Given the description of an element on the screen output the (x, y) to click on. 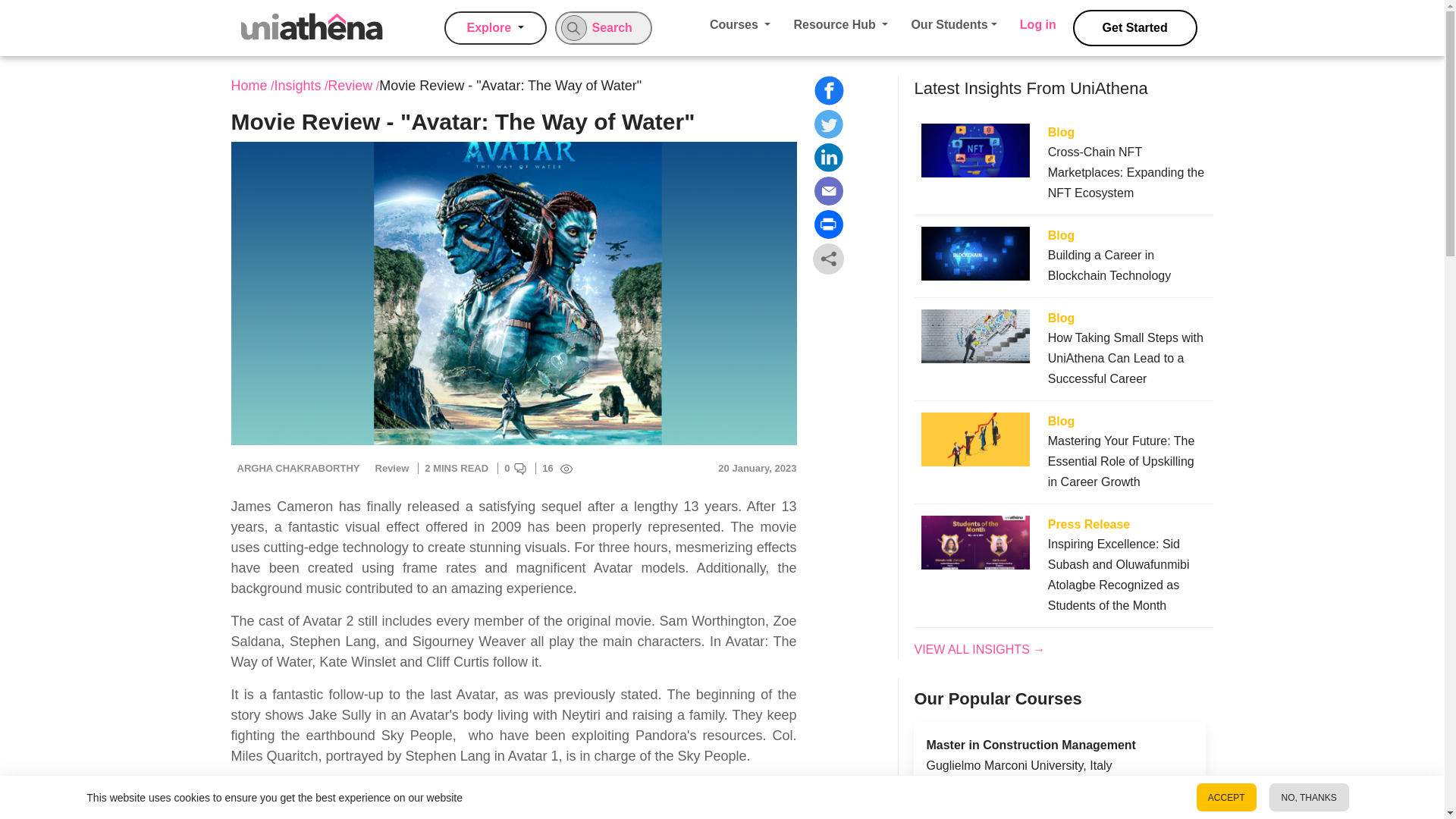
Our Students (953, 24)
Resource Hub (840, 24)
Log in (1037, 24)
Explore (495, 28)
Courses (740, 24)
Get Started (1134, 27)
